Given the description of an element on the screen output the (x, y) to click on. 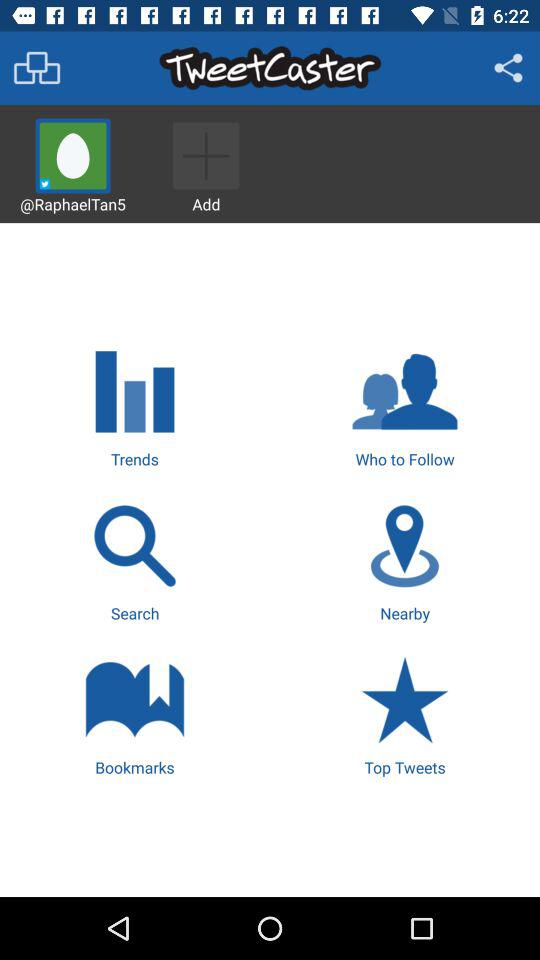
open the item at the top right corner (508, 67)
